Given the description of an element on the screen output the (x, y) to click on. 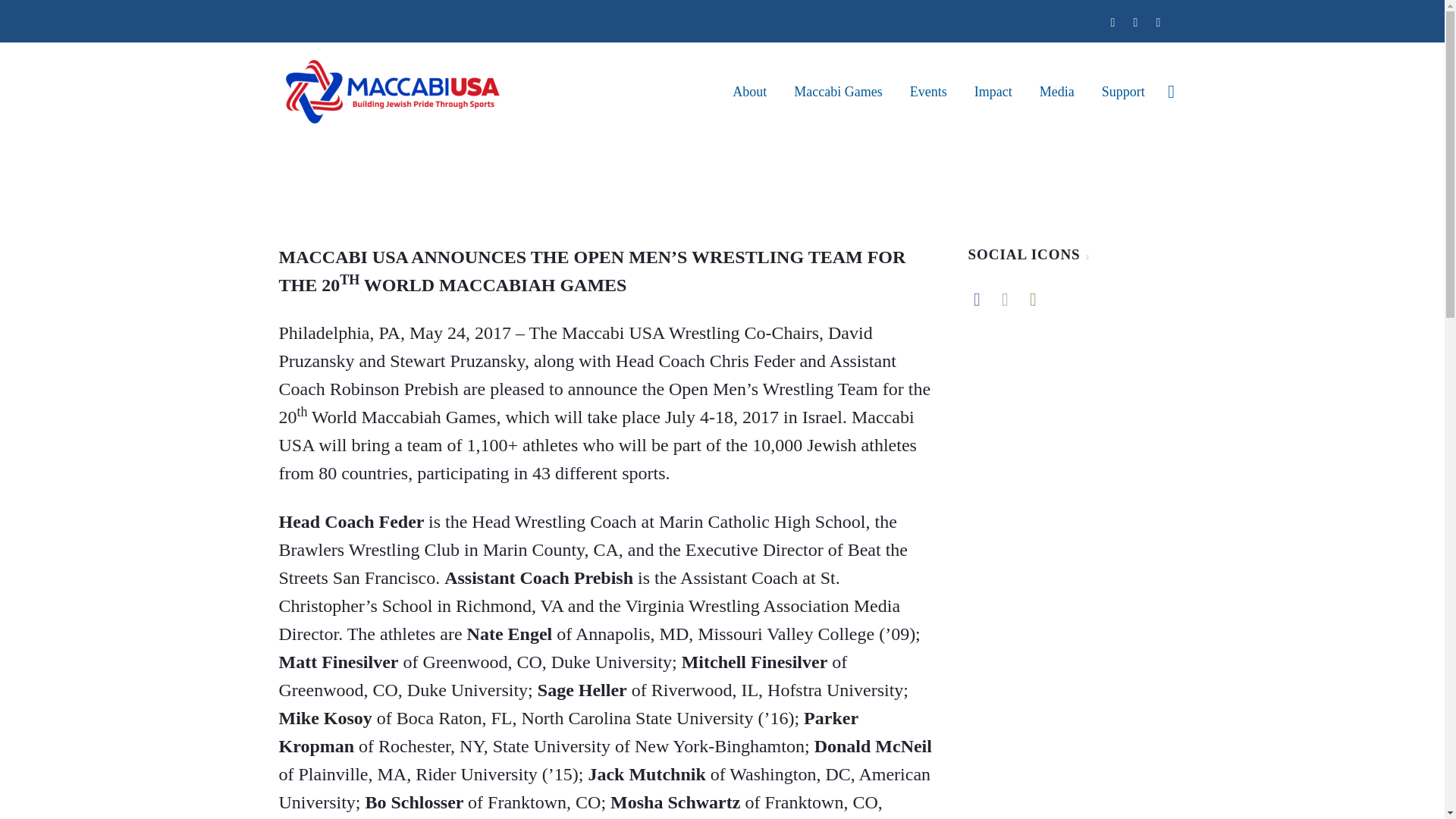
About (748, 90)
Instagram (1158, 22)
Facebook (1112, 22)
Maccabi Games (838, 90)
Events (928, 90)
Impact (992, 90)
Twitter (1135, 22)
Media (1056, 90)
